Given the description of an element on the screen output the (x, y) to click on. 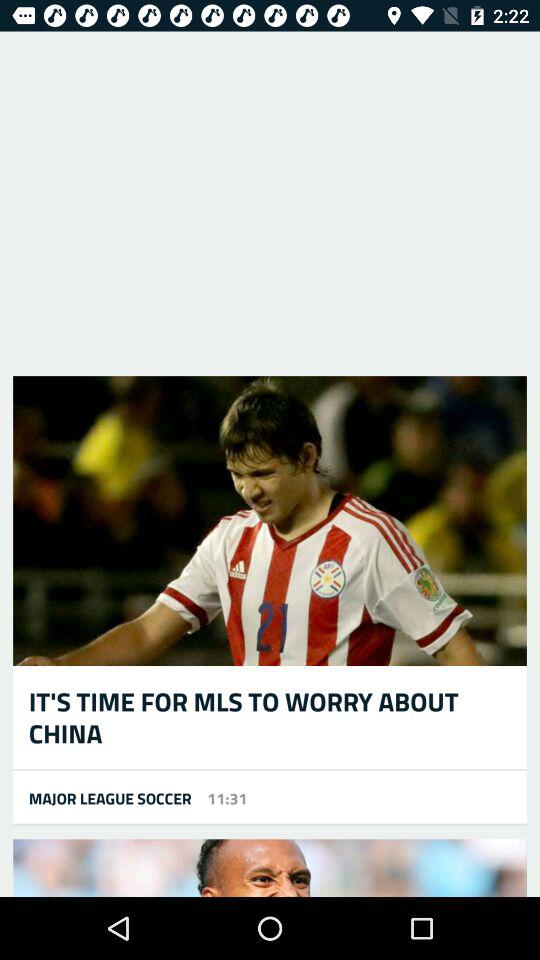
choose icon at the bottom left corner (102, 798)
